Given the description of an element on the screen output the (x, y) to click on. 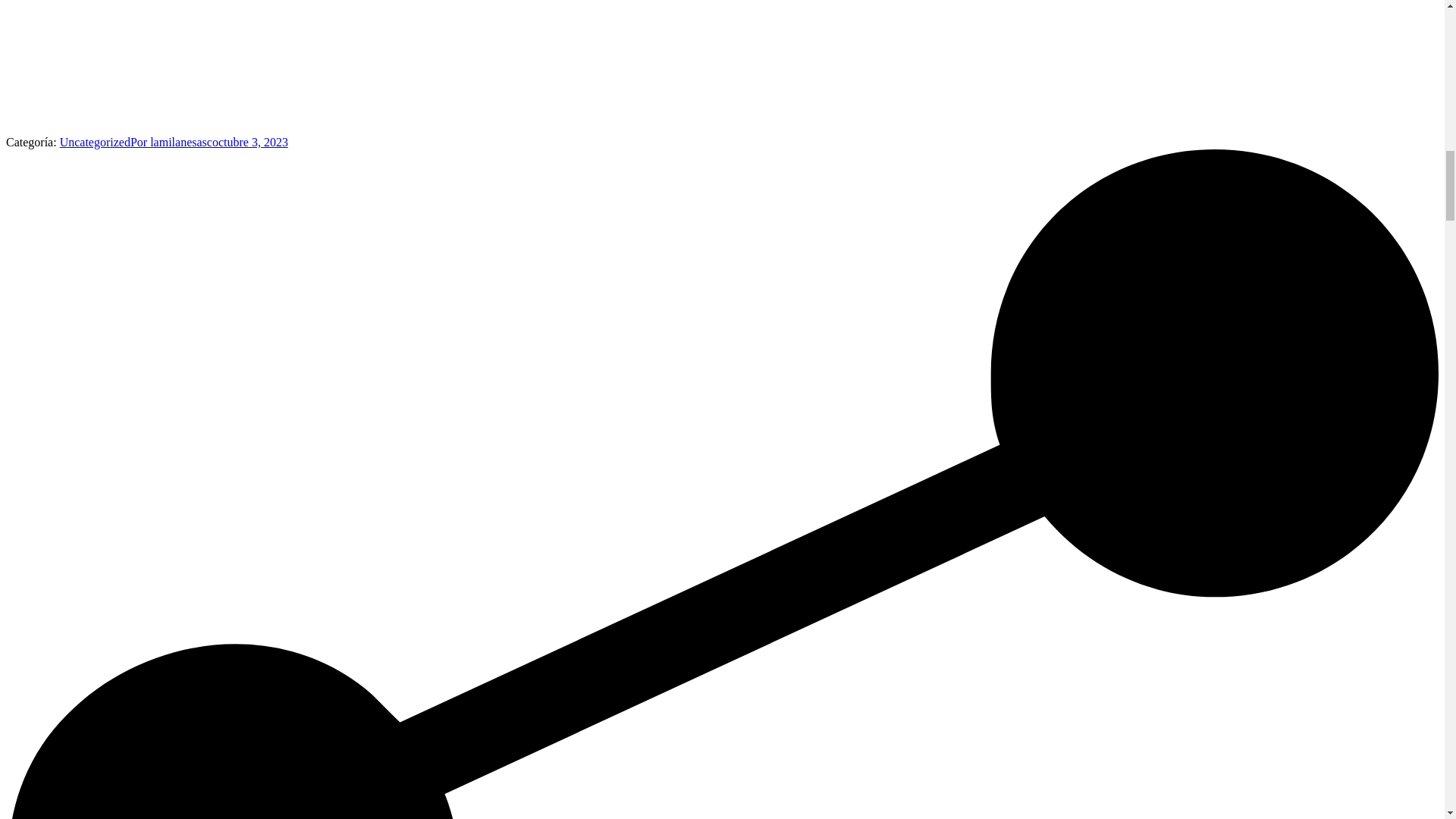
Por lamilanesasc (171, 141)
Uncategorized (95, 141)
octubre 3, 2023 (250, 141)
Ver todas las publicaciones de lamilanesasc (171, 141)
3:34 am (250, 141)
